Given the description of an element on the screen output the (x, y) to click on. 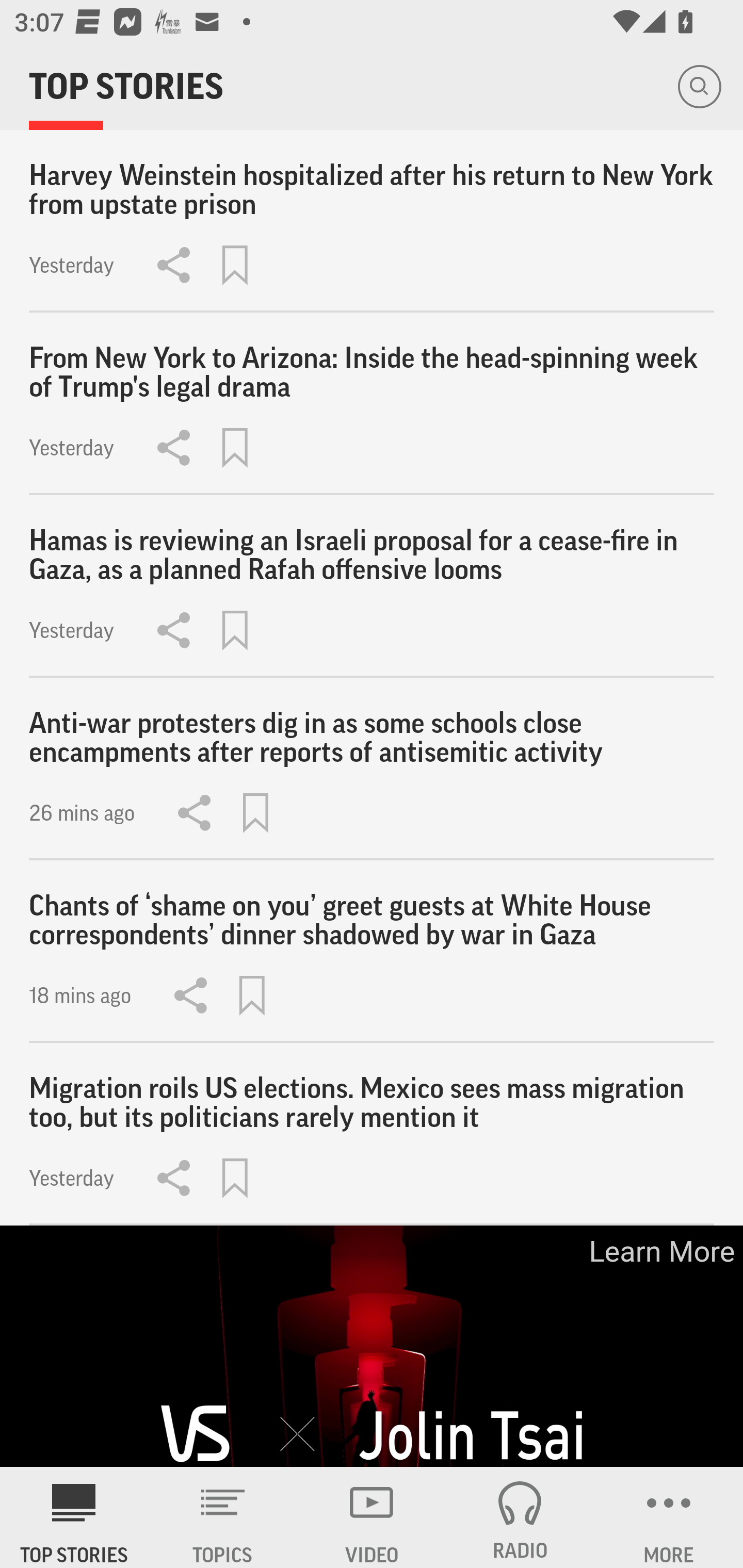
toggle controls (371, 1346)
AP News TOP STORIES (74, 1517)
TOPICS (222, 1517)
VIDEO (371, 1517)
RADIO (519, 1517)
MORE (668, 1517)
